Given the description of an element on the screen output the (x, y) to click on. 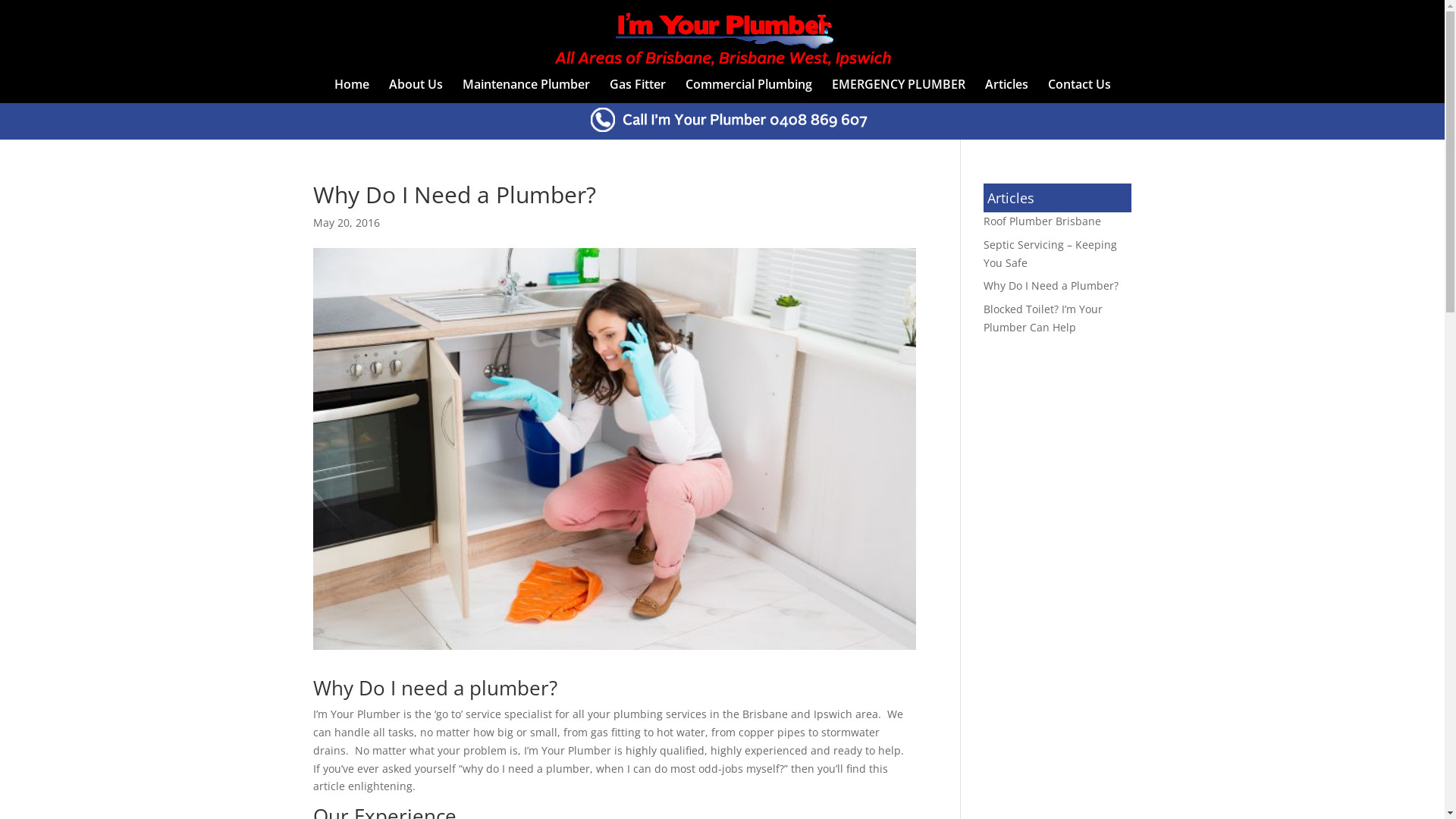
Articles Element type: text (1005, 90)
Home Element type: text (350, 90)
EMERGENCY PLUMBER Element type: text (897, 90)
Why Do I Need a Plumber? Element type: text (1050, 285)
Roof Plumber Brisbane Element type: text (1042, 220)
Commercial Plumbing Element type: text (748, 90)
Contact Us Element type: text (1079, 90)
About Us Element type: text (415, 90)
Gas Fitter Element type: text (637, 90)
Maintenance Plumber Element type: text (525, 90)
